Given the description of an element on the screen output the (x, y) to click on. 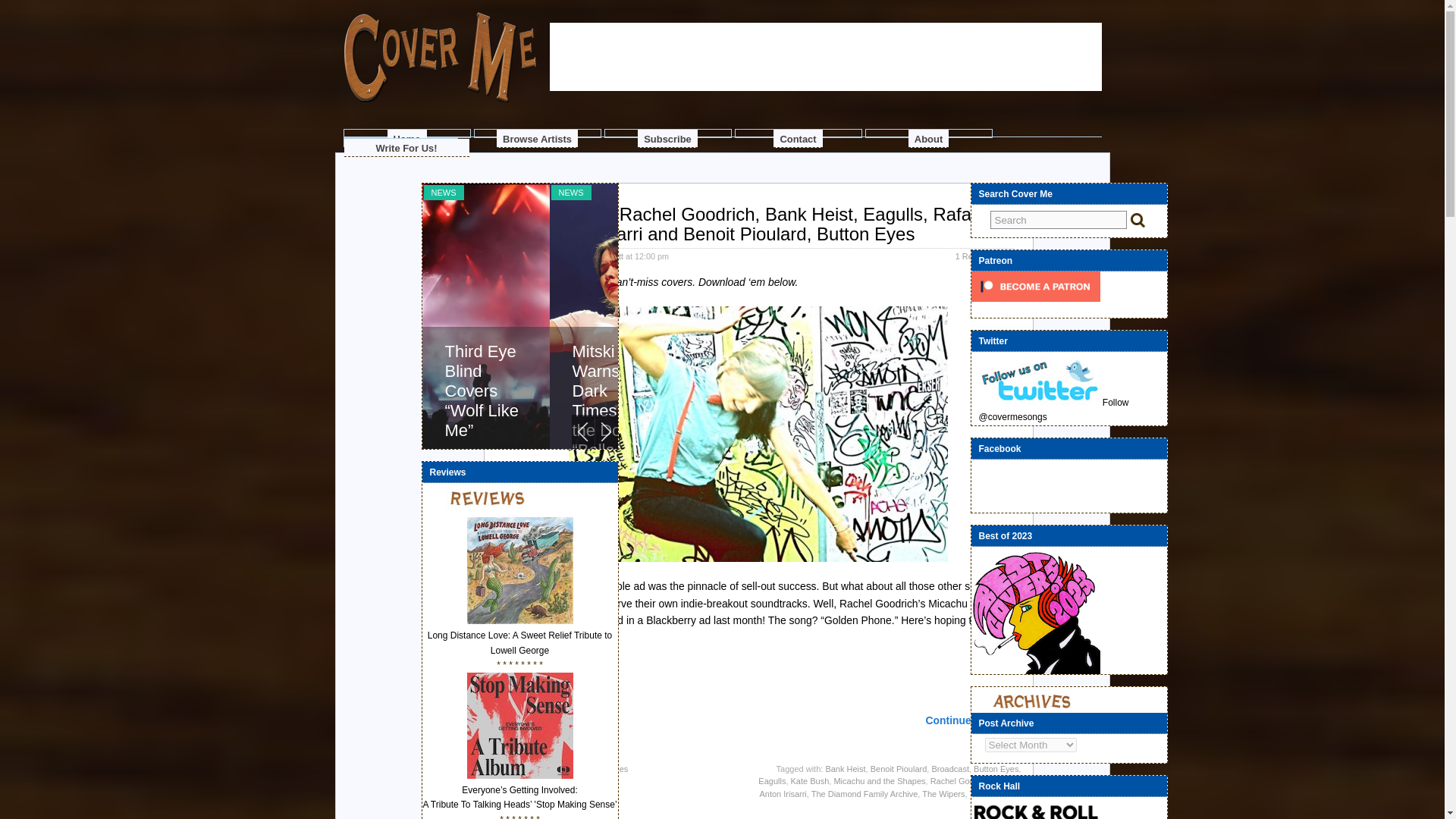
About (928, 138)
Contact (797, 138)
Home (406, 138)
Broadcast (950, 768)
Search (1058, 219)
Rachel Goodrich (961, 780)
Rafael Anton Irisarri (889, 787)
Subscribe (667, 138)
The Diamond Family Archive (864, 793)
Browse Artists (537, 138)
Eagulls (772, 780)
Button Eyes (995, 768)
Advertisement (824, 140)
Micachu and the Shapes (878, 780)
